Given the description of an element on the screen output the (x, y) to click on. 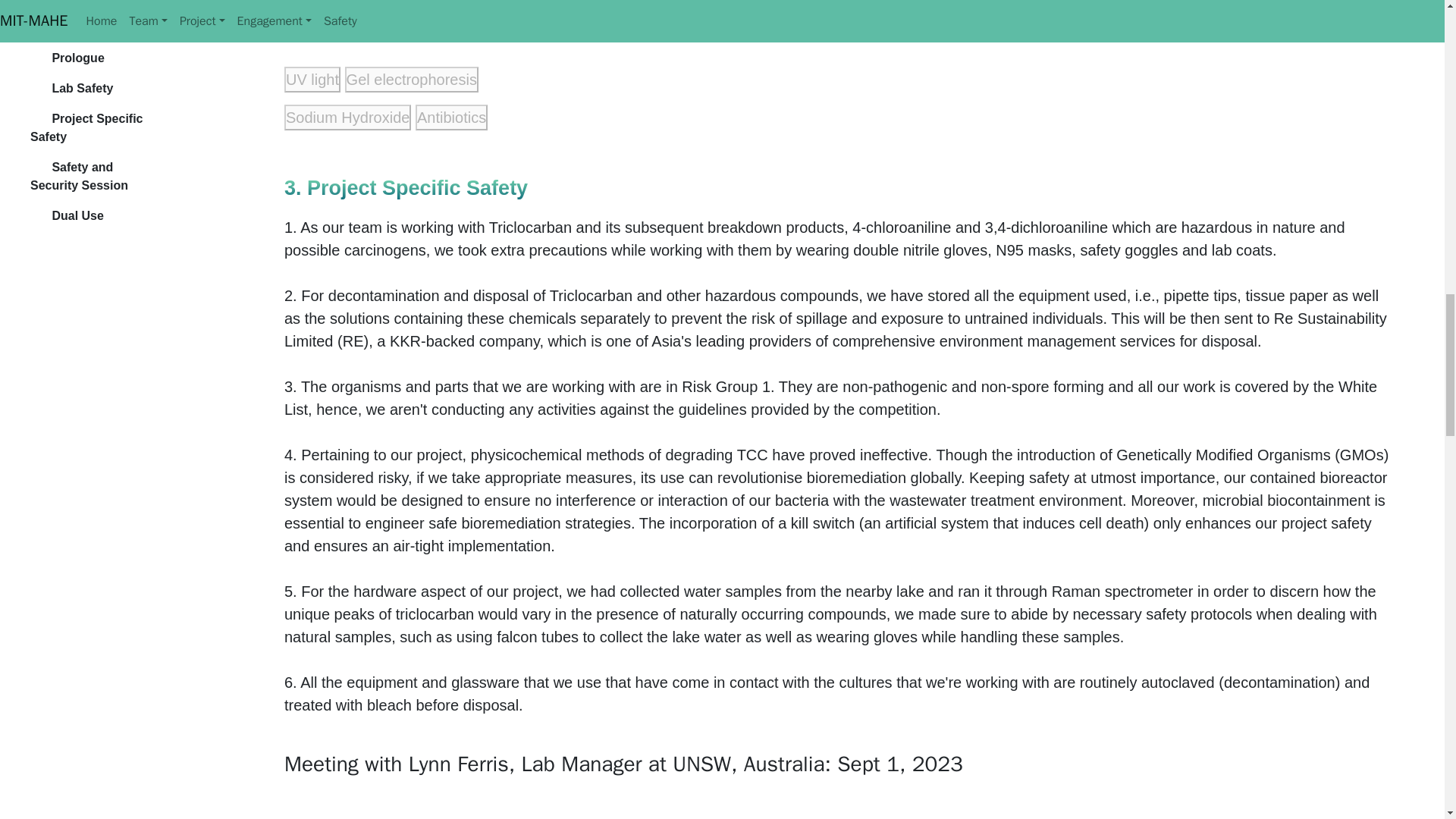
Sodium Hydroxide (52, 253)
Antibiotics (133, 253)
